Given the description of an element on the screen output the (x, y) to click on. 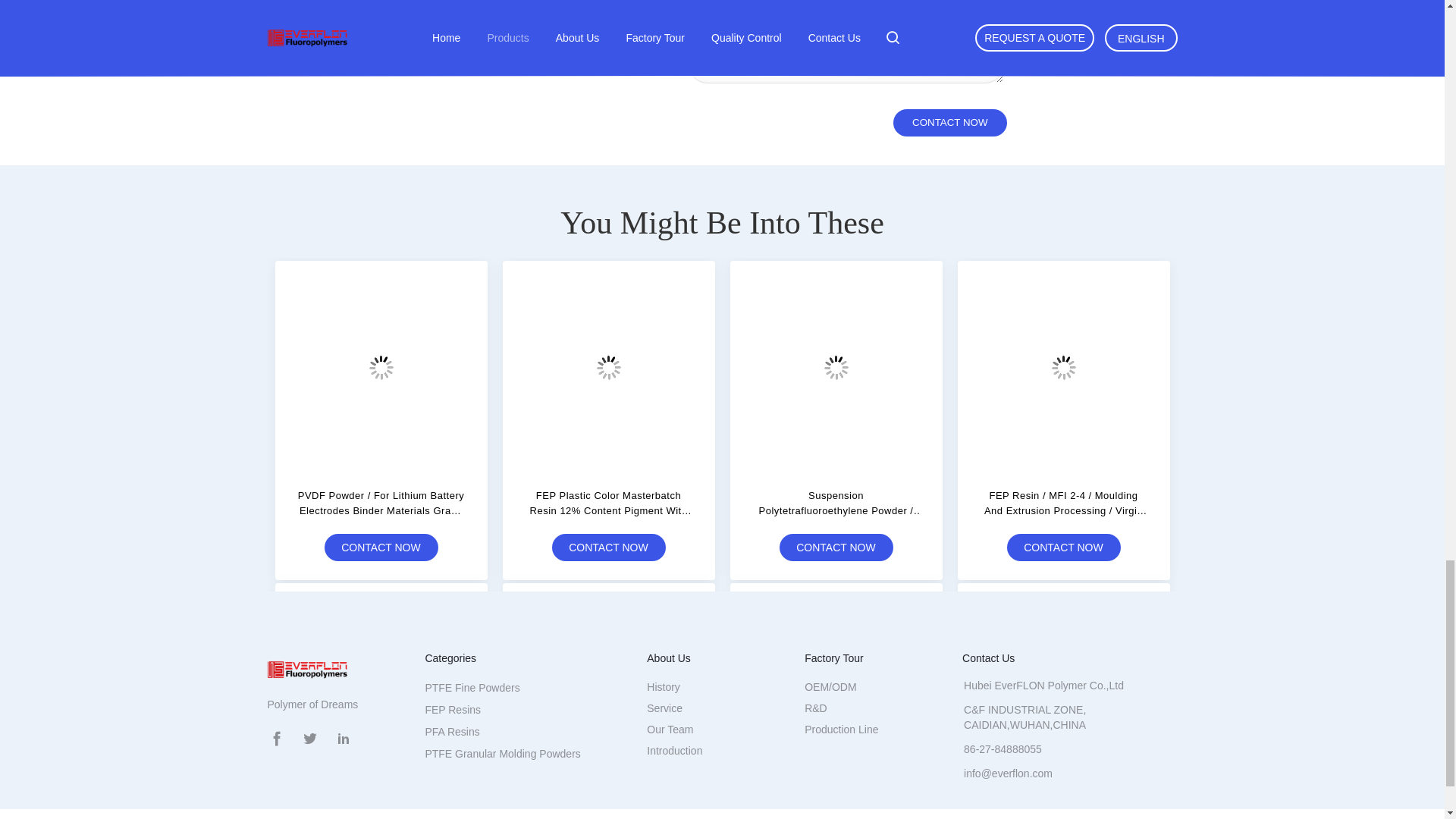
Contact Now (949, 122)
